Given the description of an element on the screen output the (x, y) to click on. 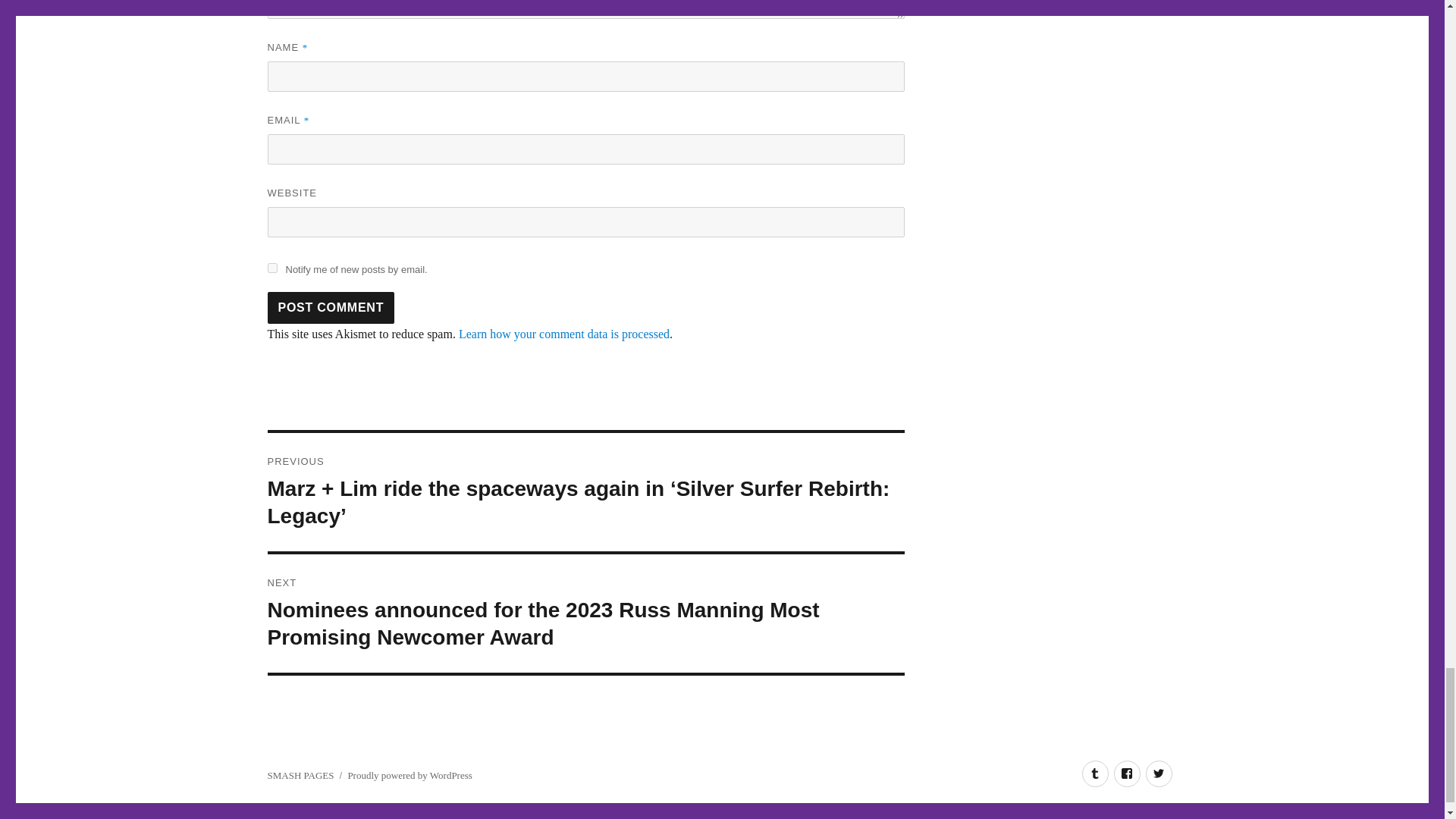
subscribe (271, 267)
Post Comment (330, 307)
Post Comment (330, 307)
Learn how your comment data is processed (563, 333)
